Given the description of an element on the screen output the (x, y) to click on. 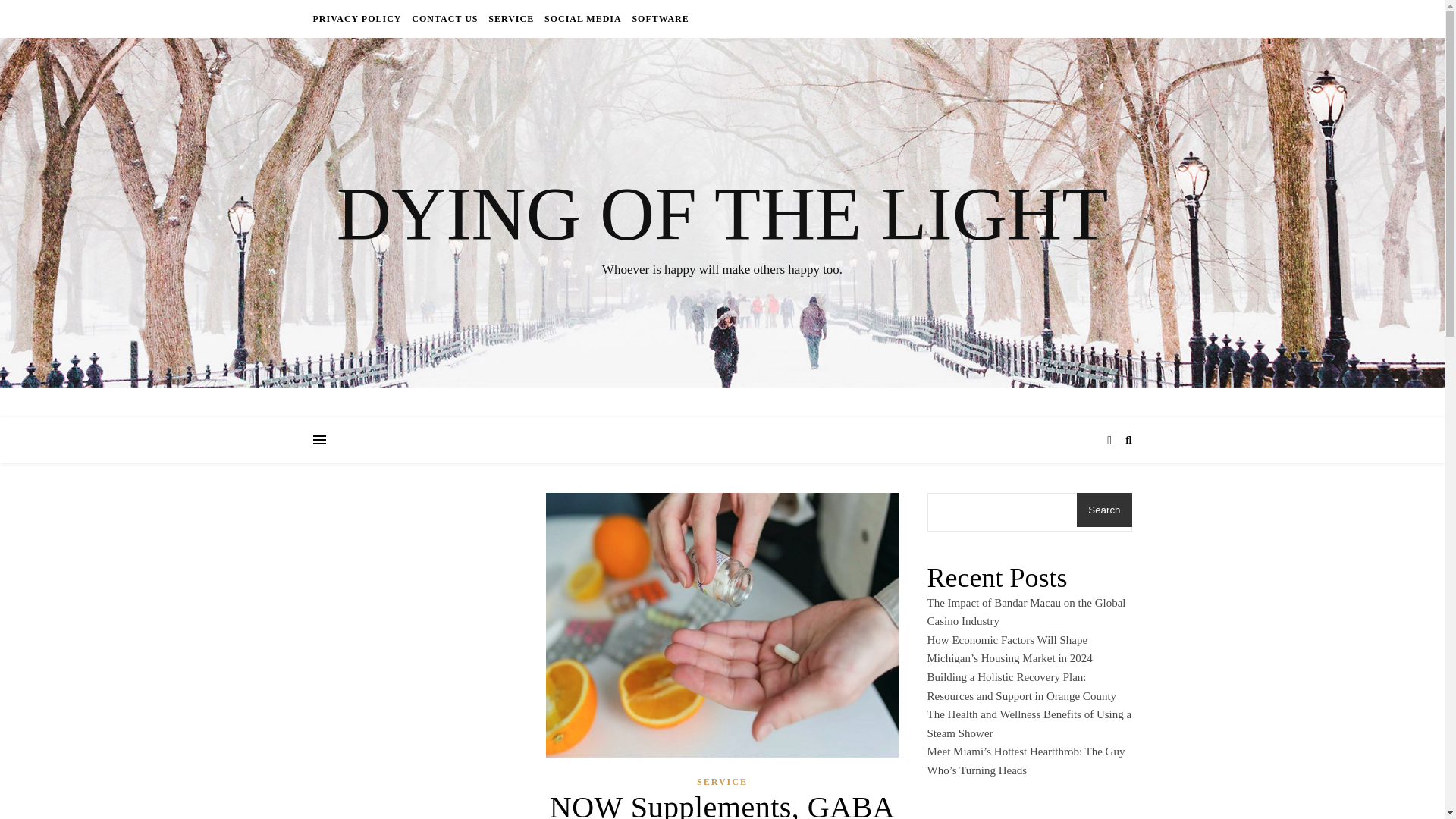
CONTACT US (444, 18)
SOCIAL MEDIA (583, 18)
SERVICE (722, 781)
SOFTWARE (657, 18)
Search (1104, 510)
PRIVACY POLICY (358, 18)
The Impact of Bandar Macau on the Global Casino Industry (1025, 612)
The Health and Wellness Benefits of Using a Steam Shower (1028, 723)
SERVICE (510, 18)
